Given the description of an element on the screen output the (x, y) to click on. 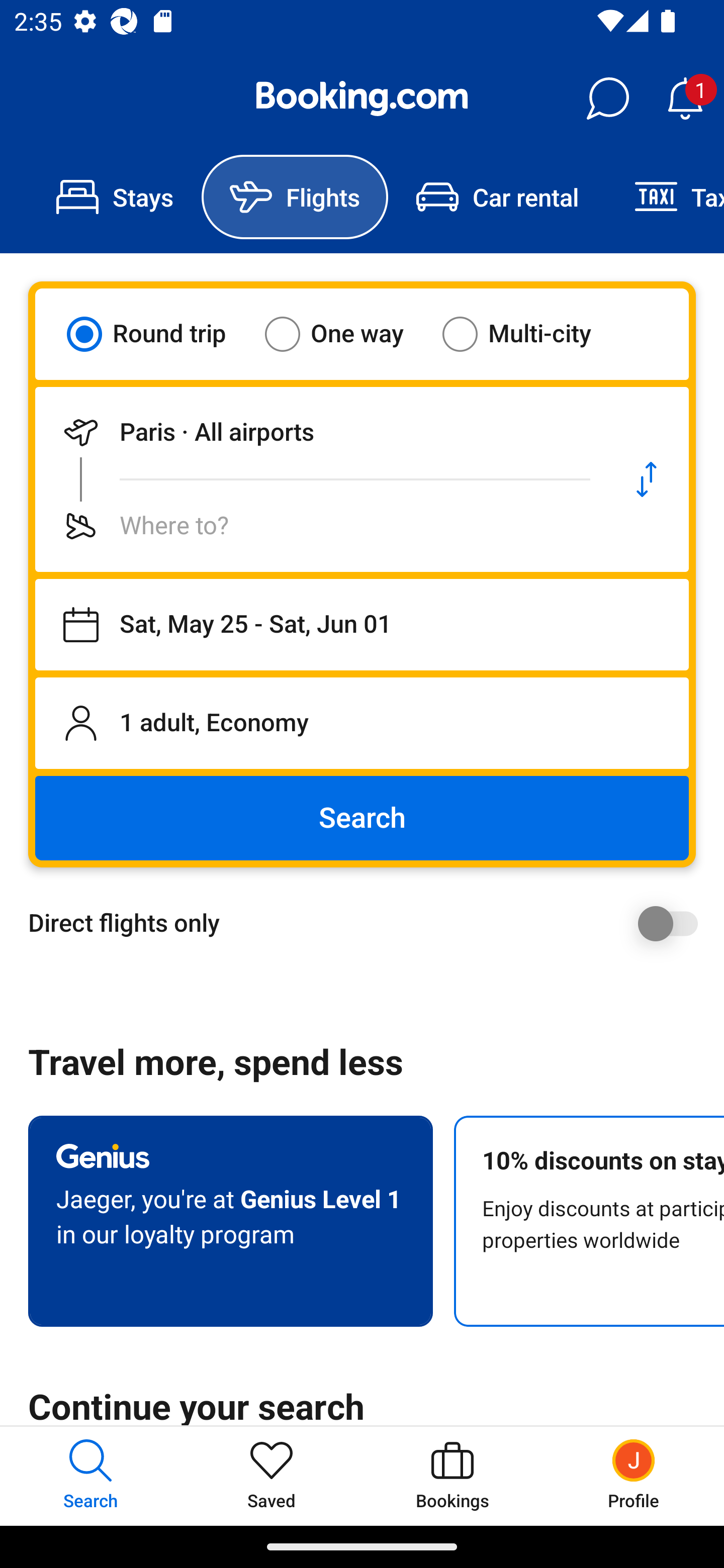
Messages (607, 98)
Notifications (685, 98)
Stays (114, 197)
Flights (294, 197)
Car rental (497, 197)
Taxi (665, 197)
One way (346, 333)
Multi-city (528, 333)
Departing from Paris · All airports (319, 432)
Swap departure location and destination (646, 479)
Flying to  (319, 525)
Departing on Sat, May 25, returning on Sat, Jun 01 (361, 624)
1 adult, Economy (361, 722)
Search (361, 818)
Direct flights only (369, 923)
Saved (271, 1475)
Bookings (452, 1475)
Profile (633, 1475)
